Given the description of an element on the screen output the (x, y) to click on. 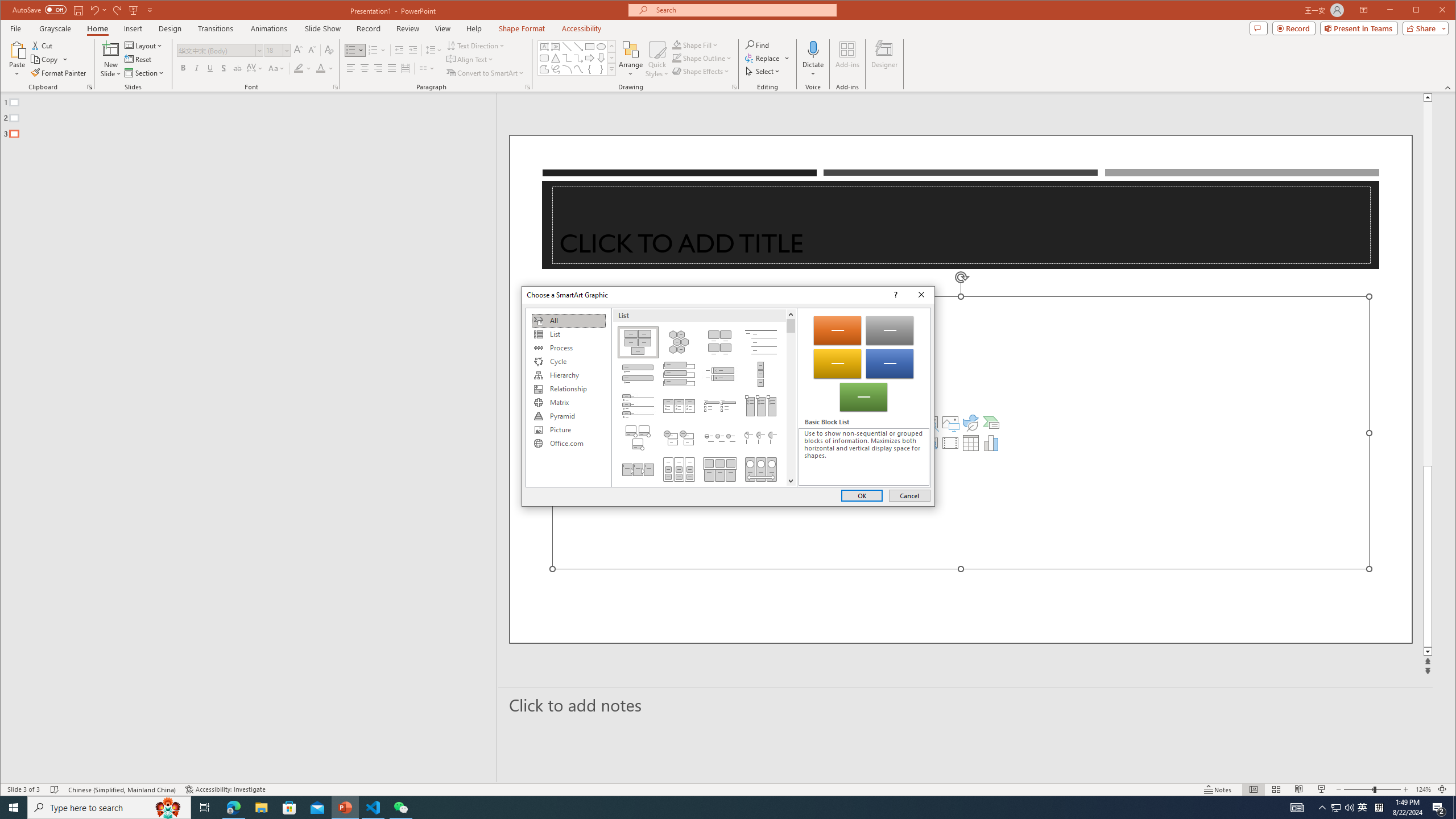
Running applications (707, 807)
Insert an Icon (970, 422)
Pie Process (761, 437)
File Explorer (261, 807)
Picture Caption List (719, 342)
Show desktop (1454, 807)
Text Direction (1362, 807)
Text Highlight Color (476, 45)
Left Brace (302, 68)
Distributed (589, 69)
